Given the description of an element on the screen output the (x, y) to click on. 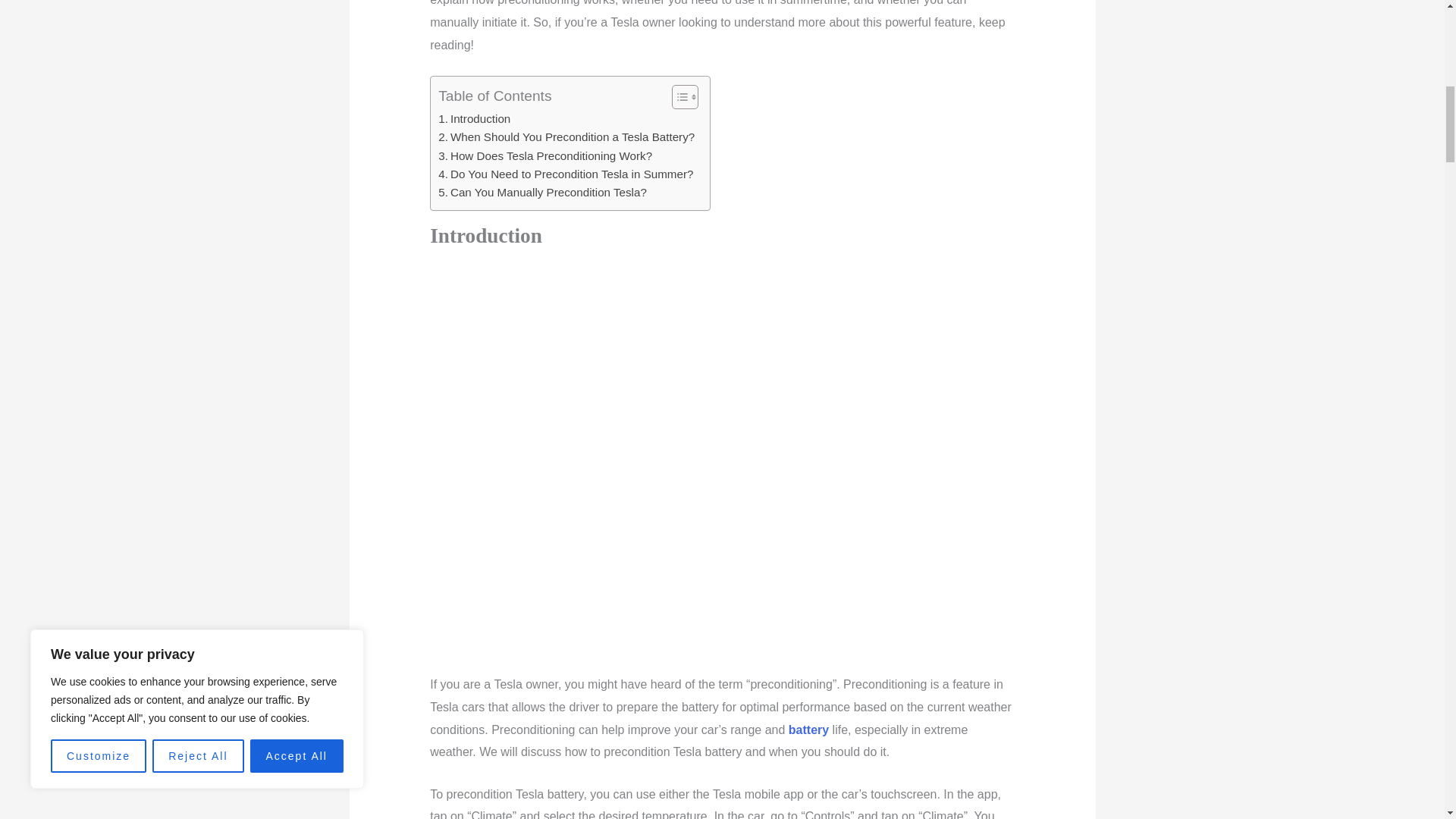
Do You Need to Precondition Tesla in Summer? (565, 174)
When Should You Precondition a Tesla Battery? (566, 136)
When Should You Precondition a Tesla Battery? (566, 136)
battery (808, 729)
Do You Need to Precondition Tesla in Summer? (565, 174)
How Does Tesla Preconditioning Work? (545, 156)
Introduction (474, 118)
Can You Manually Precondition Tesla? (542, 192)
How Does Tesla Preconditioning Work? (545, 156)
Introduction (474, 118)
Can You Manually Precondition Tesla? (542, 192)
